Given the description of an element on the screen output the (x, y) to click on. 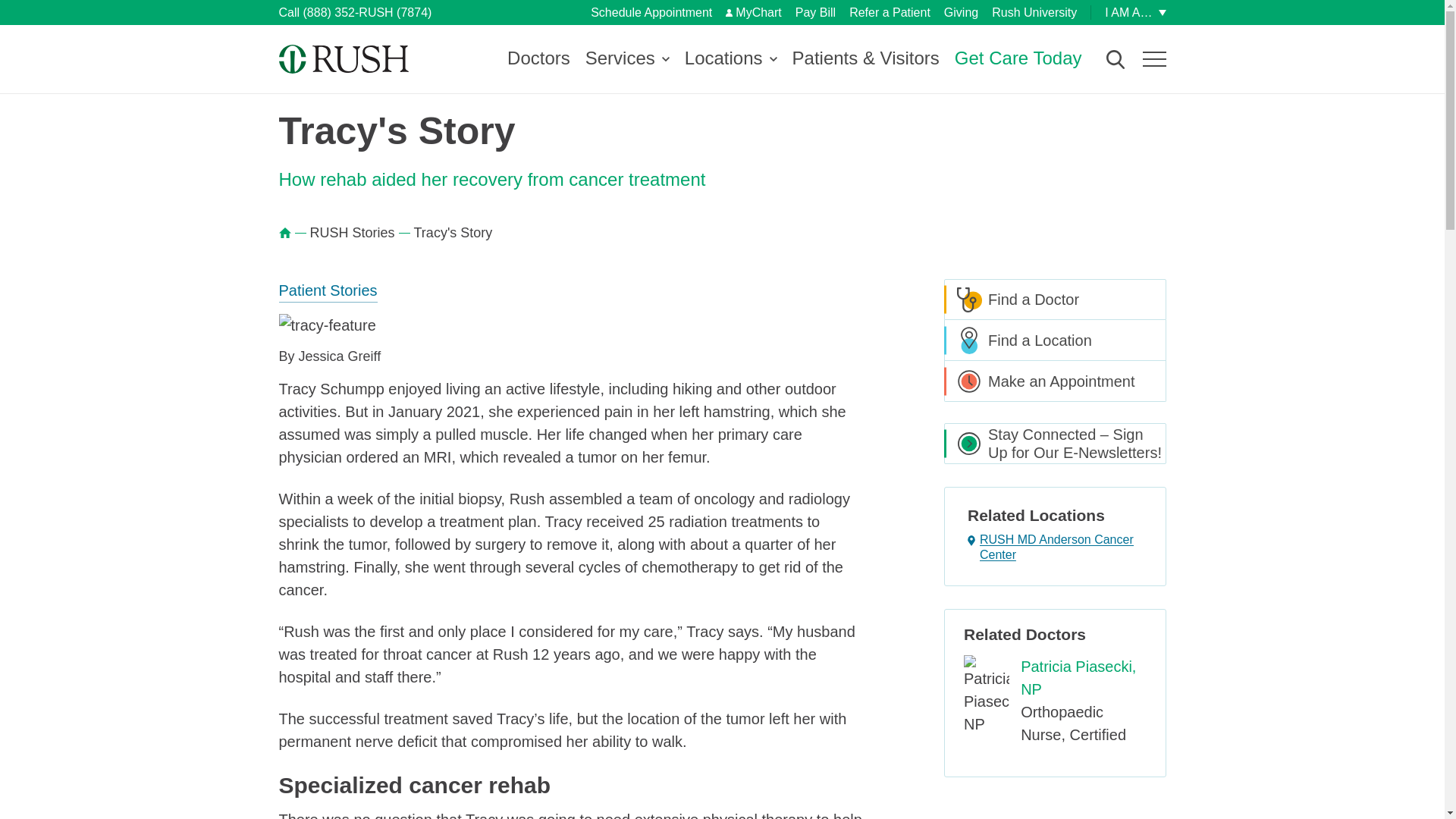
MyChart (752, 11)
Refer a Patient (889, 11)
Giving (960, 11)
Schedule Appointment (651, 11)
Rush University (1034, 11)
Pay Bill (814, 11)
